Given the description of an element on the screen output the (x, y) to click on. 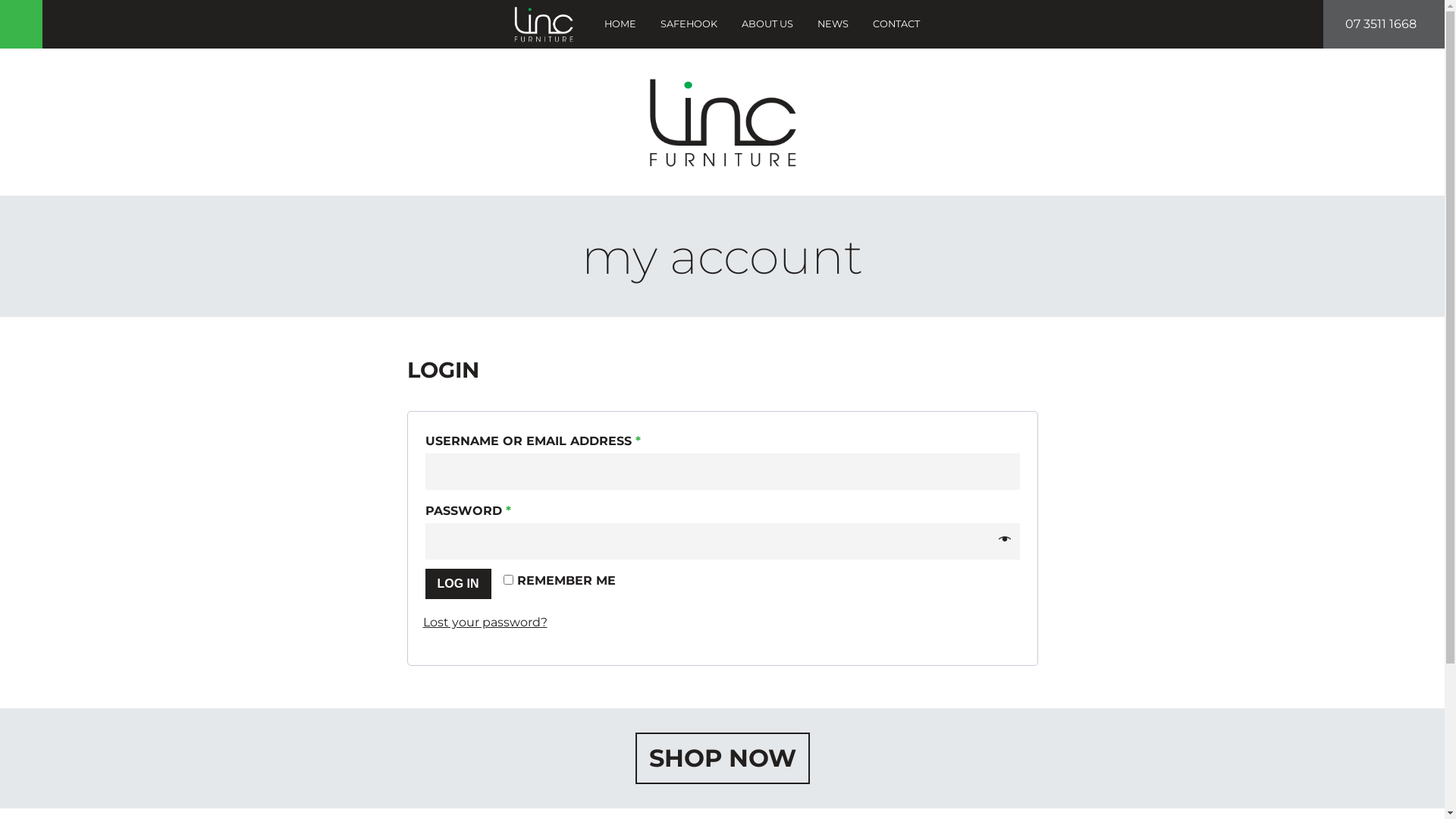
CONTACT Element type: text (895, 24)
07 3511 1668 Element type: text (1383, 24)
HOME Element type: text (619, 24)
NEWS Element type: text (832, 24)
SAFEHOOK Element type: text (687, 24)
LOG IN Element type: text (457, 583)
SHOP NOW Element type: text (722, 758)
Lost your password? Element type: text (485, 622)
ABOUT US Element type: text (767, 24)
